Given the description of an element on the screen output the (x, y) to click on. 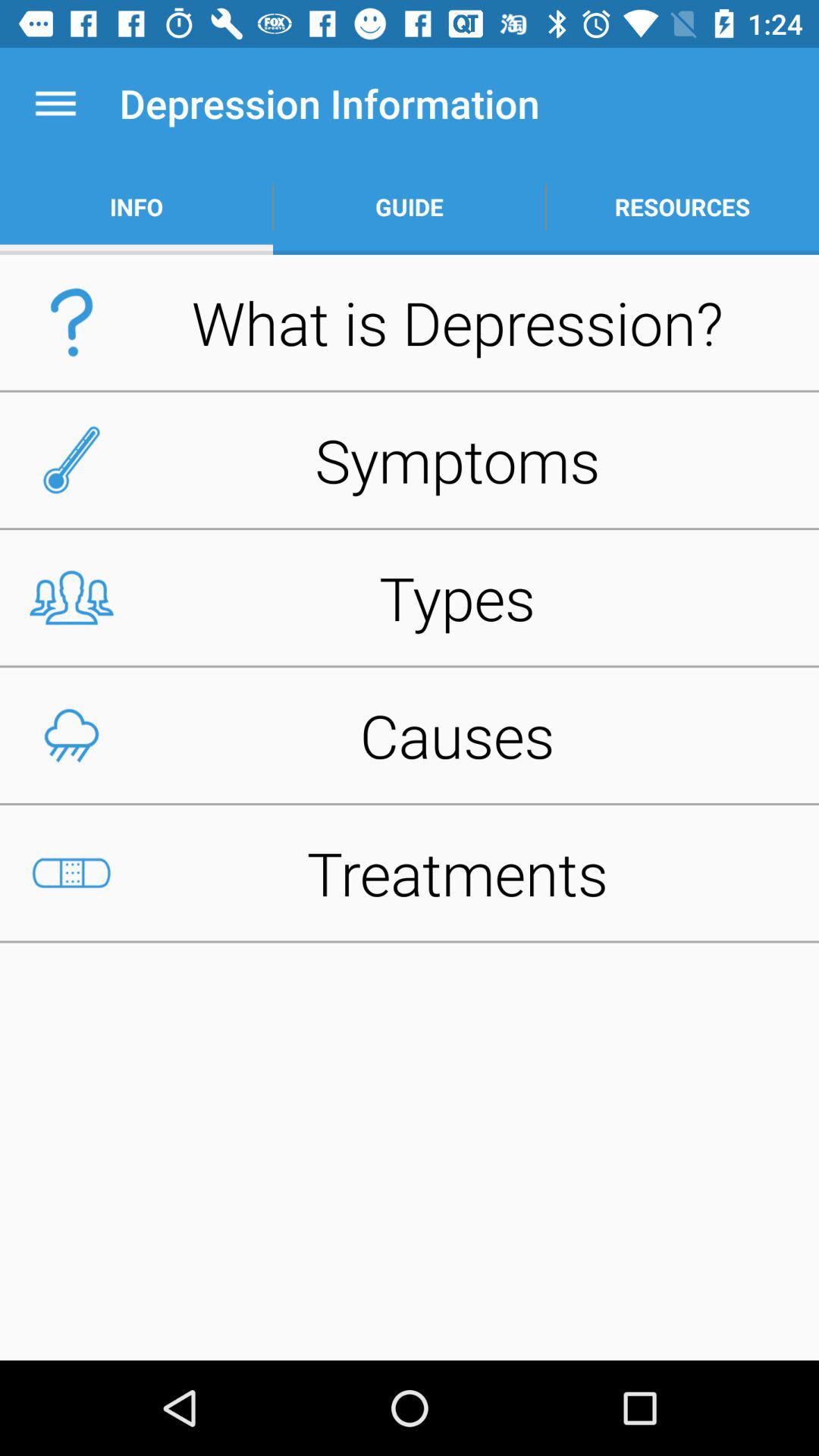
launch app above info item (55, 103)
